Given the description of an element on the screen output the (x, y) to click on. 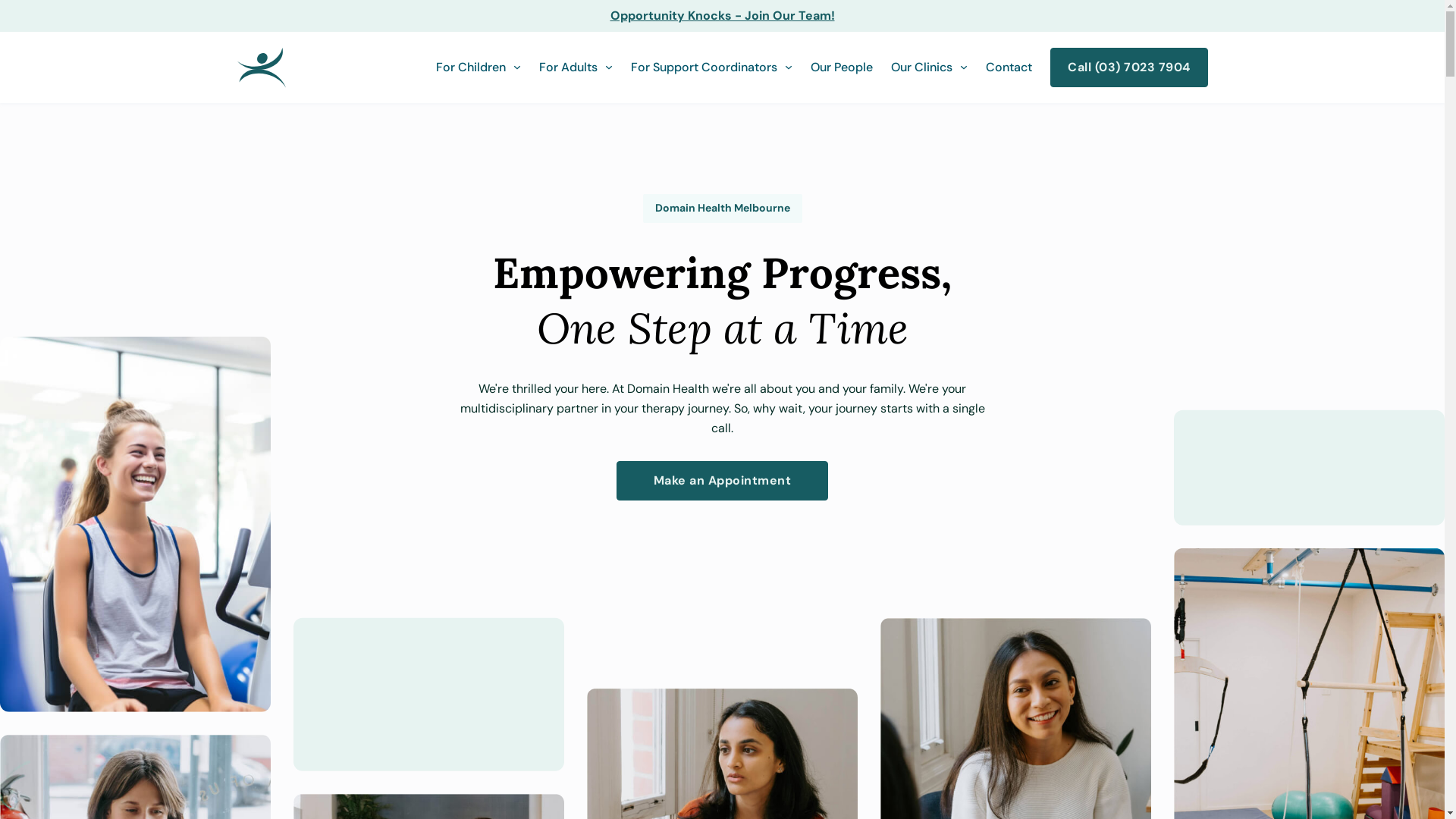
Call (03) 7023 7904 Element type: text (1129, 67)
Opportunity Knocks - Join Our Team! Element type: text (721, 15)
For Adults Element type: text (568, 67)
Contact Element type: text (1008, 67)
Make an Appointment Element type: text (722, 480)
For Children Element type: text (470, 67)
Our People Element type: text (841, 67)
For Support Coordinators Element type: text (703, 67)
Our Clinics Element type: text (921, 67)
Domain Health Element type: hover (260, 67)
